Given the description of an element on the screen output the (x, y) to click on. 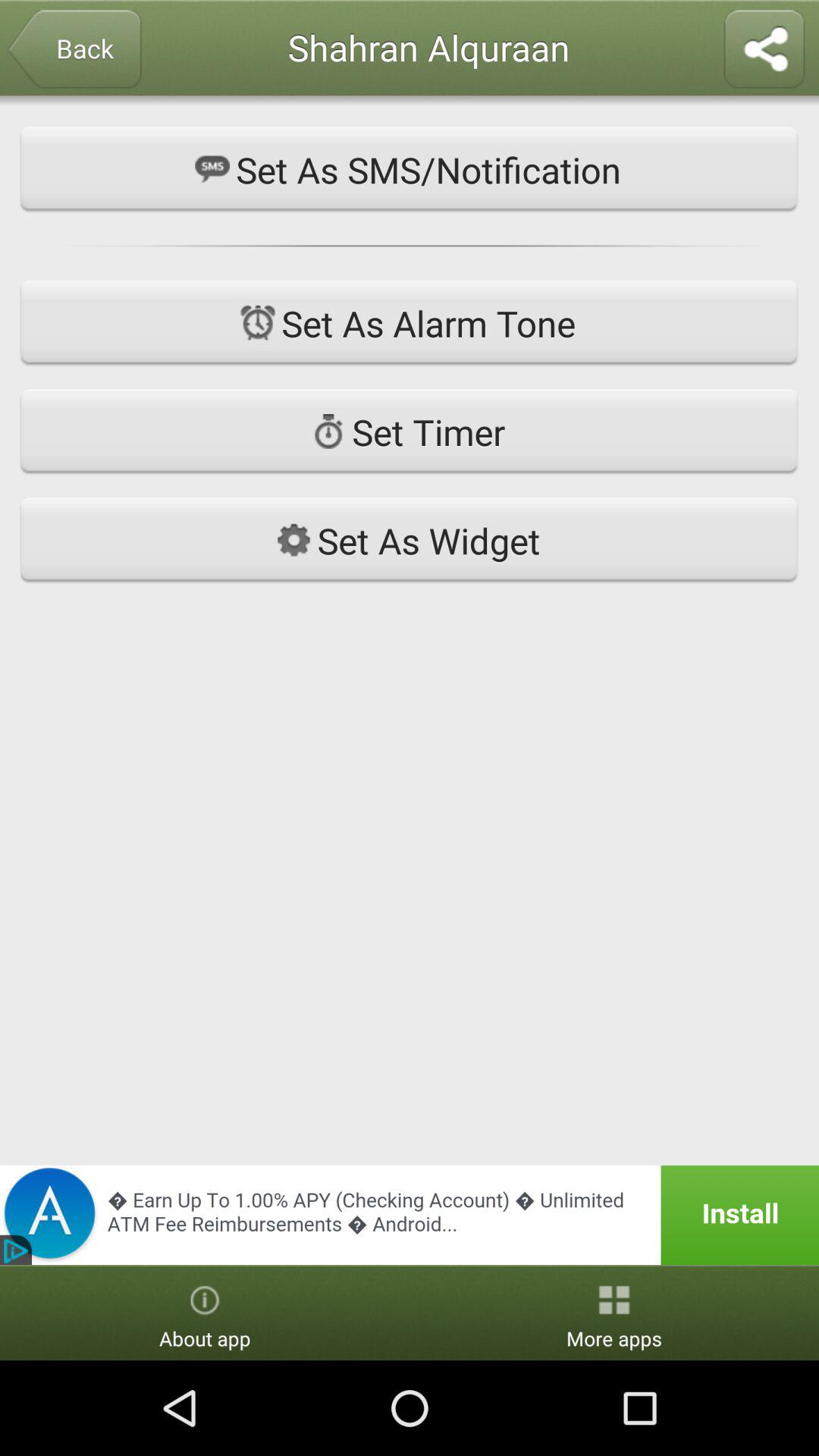
share the app (764, 50)
